Given the description of an element on the screen output the (x, y) to click on. 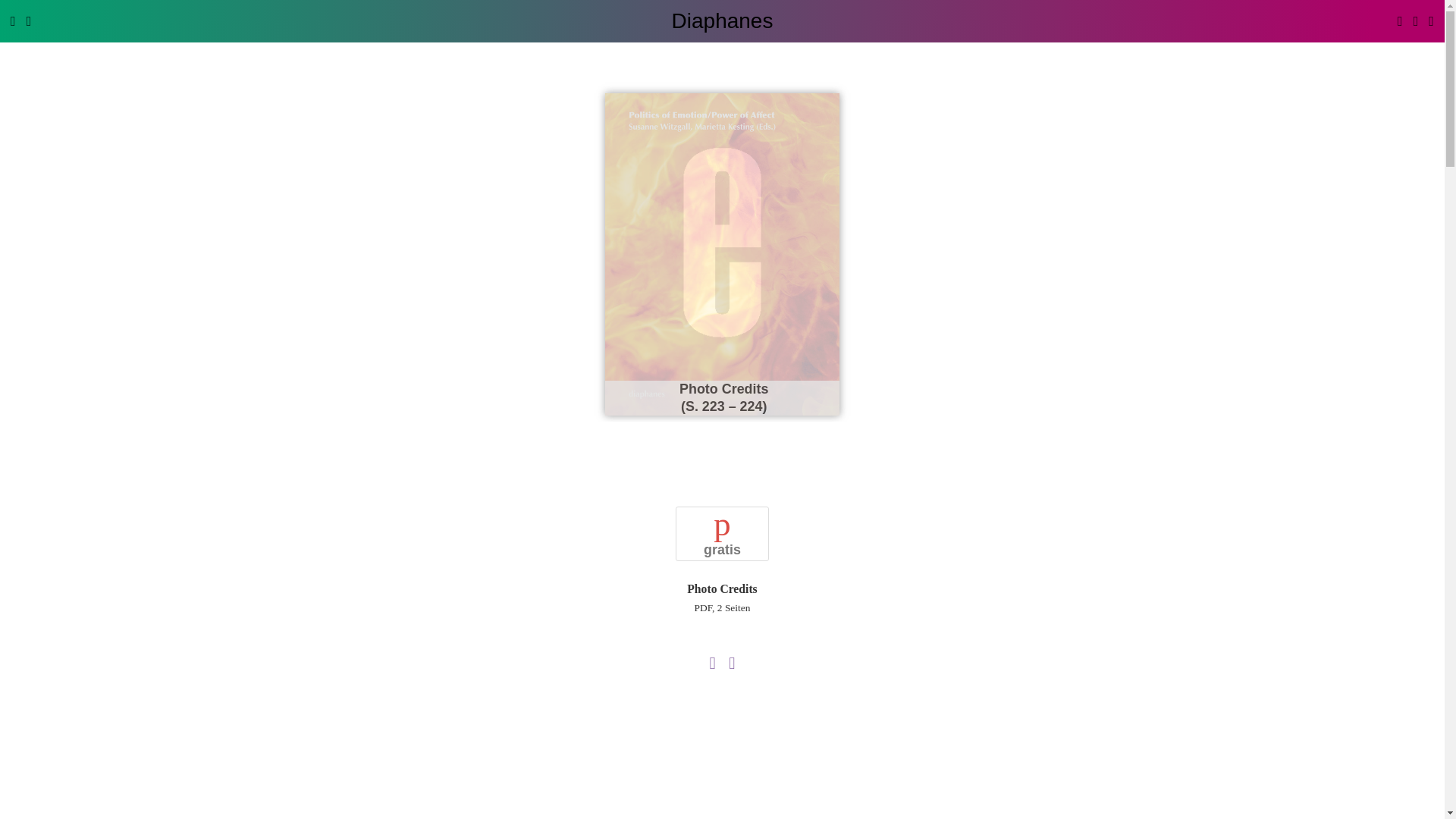
Diaphanes (722, 20)
